Given the description of an element on the screen output the (x, y) to click on. 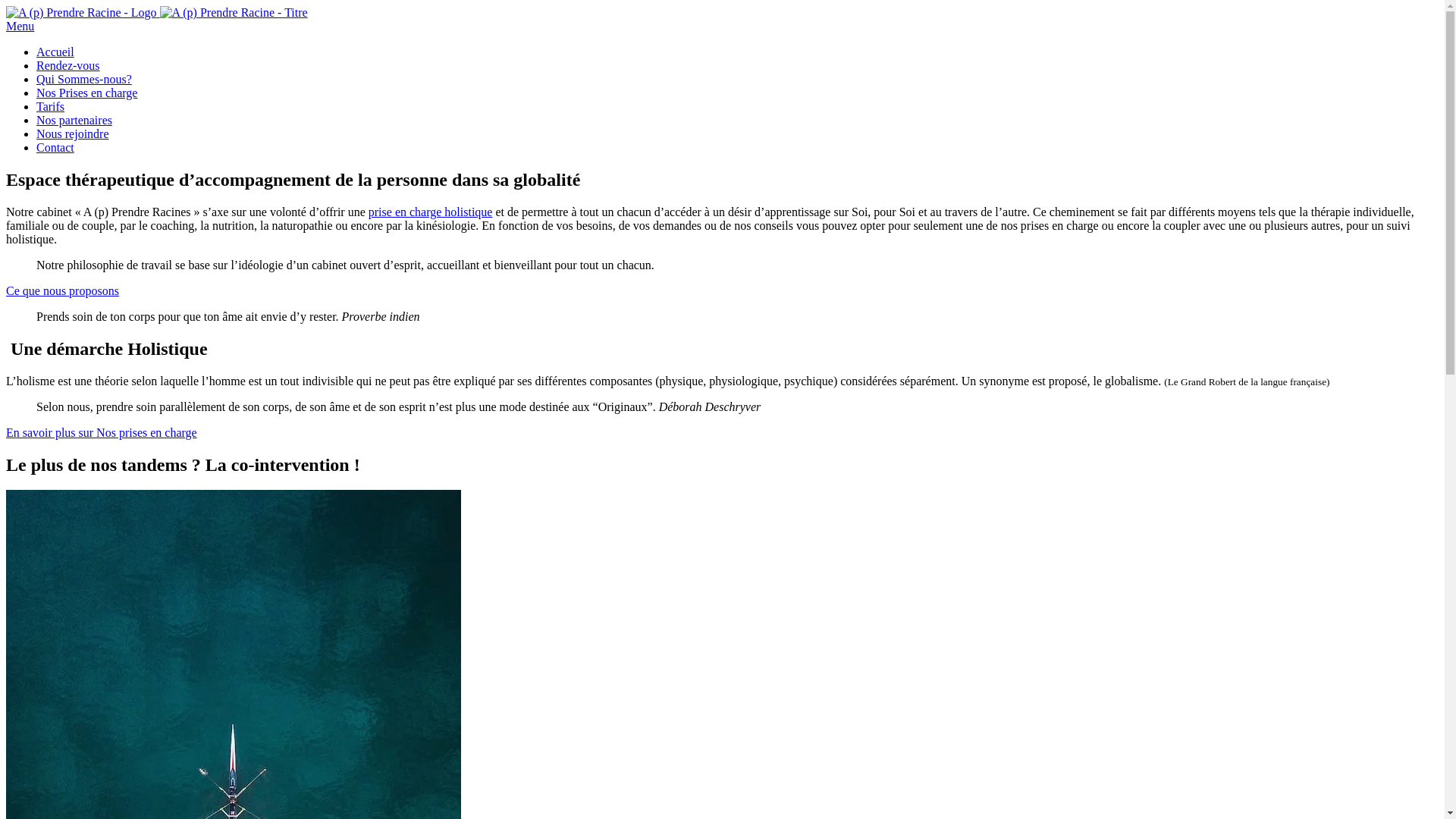
Nos Prises en charge Element type: text (86, 92)
Ce que nous proposons Element type: text (62, 290)
Contact Element type: text (55, 147)
Tarifs Element type: text (50, 106)
Nos partenaires Element type: text (74, 119)
Qui Sommes-nous? Element type: text (83, 78)
Nous rejoindre Element type: text (72, 133)
Rendez-vous Element type: text (68, 65)
Accueil Element type: text (55, 51)
prise en charge holistique Element type: text (430, 211)
En savoir plus sur Nos prises en charge Element type: text (101, 432)
Menu Element type: text (20, 25)
